Given the description of an element on the screen output the (x, y) to click on. 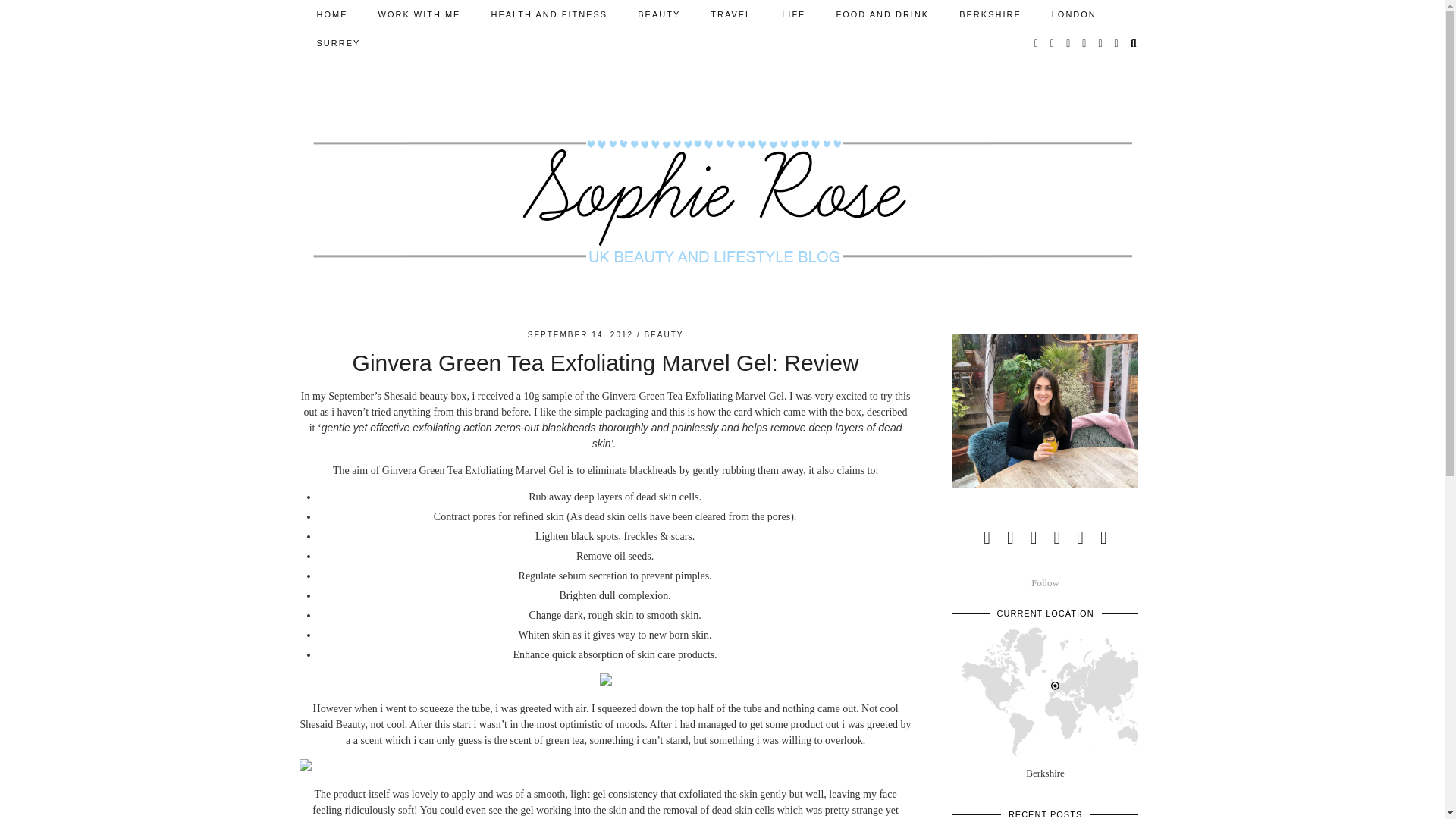
BEAUTY (659, 14)
LONDON (1074, 14)
LIFE (794, 14)
WORK WITH ME (419, 14)
SURREY (338, 42)
BERKSHIRE (989, 14)
HOME (331, 14)
HEALTH AND FITNESS (549, 14)
TRAVEL (731, 14)
FOOD AND DRINK (882, 14)
